Given the description of an element on the screen output the (x, y) to click on. 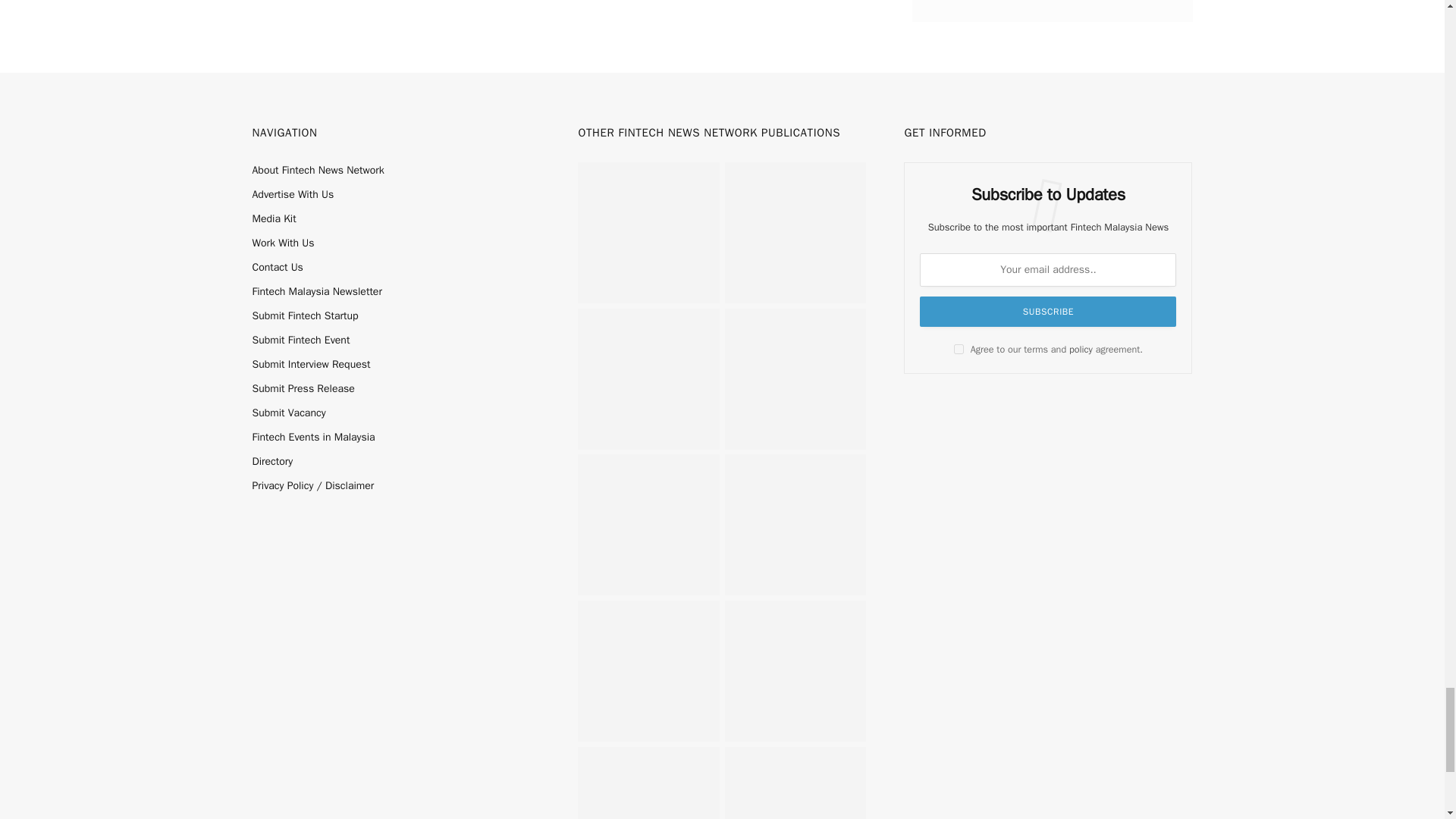
on (958, 348)
Subscribe (1048, 311)
